Given the description of an element on the screen output the (x, y) to click on. 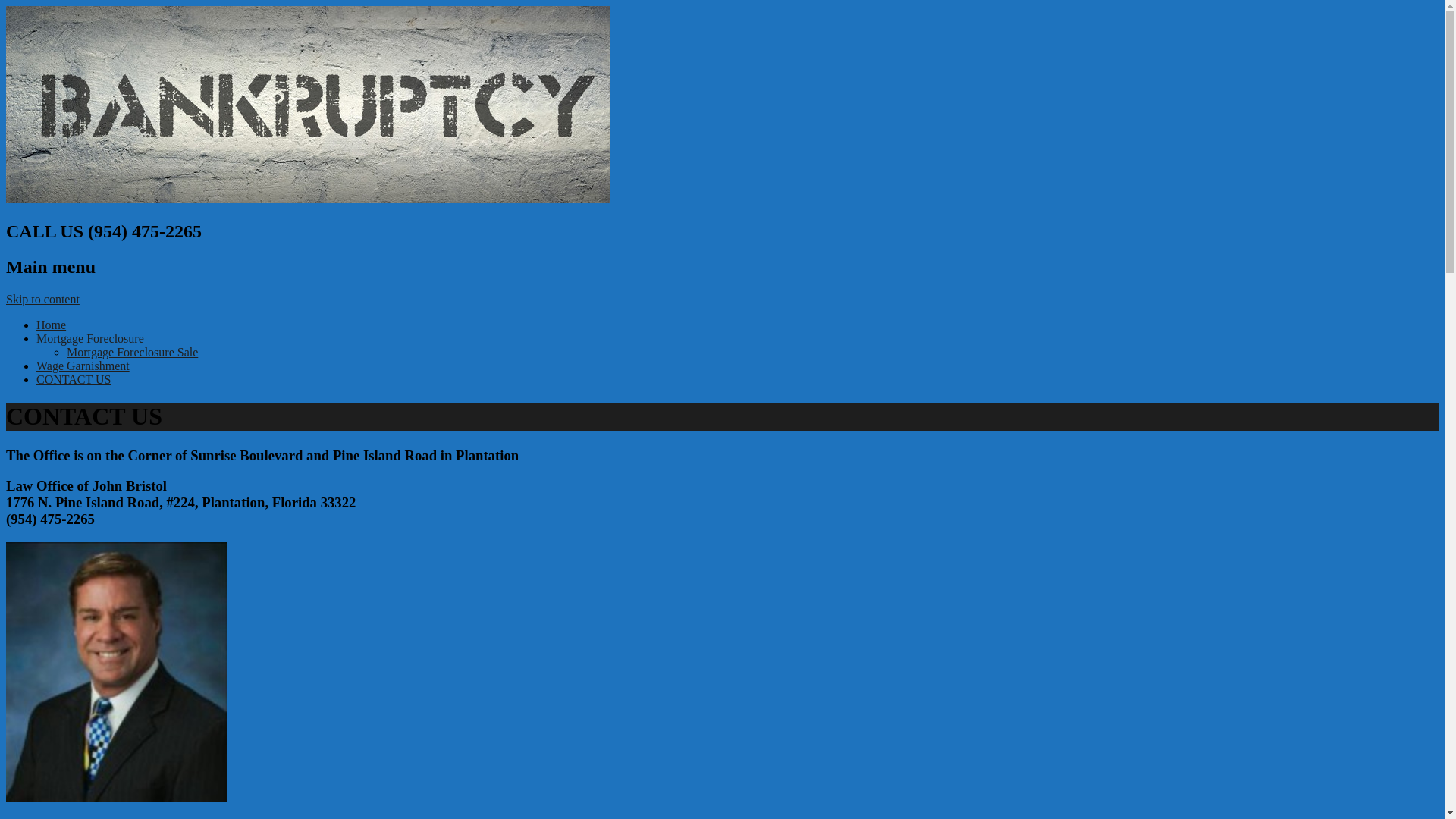
Home Element type: text (50, 324)
Wage Garnishment Element type: text (82, 365)
CONTACT US Element type: text (73, 379)
Skip to content Element type: text (42, 298)
Mortgage Foreclosure Element type: text (90, 338)
Mortgage Foreclosure Sale Element type: text (131, 351)
